Given the description of an element on the screen output the (x, y) to click on. 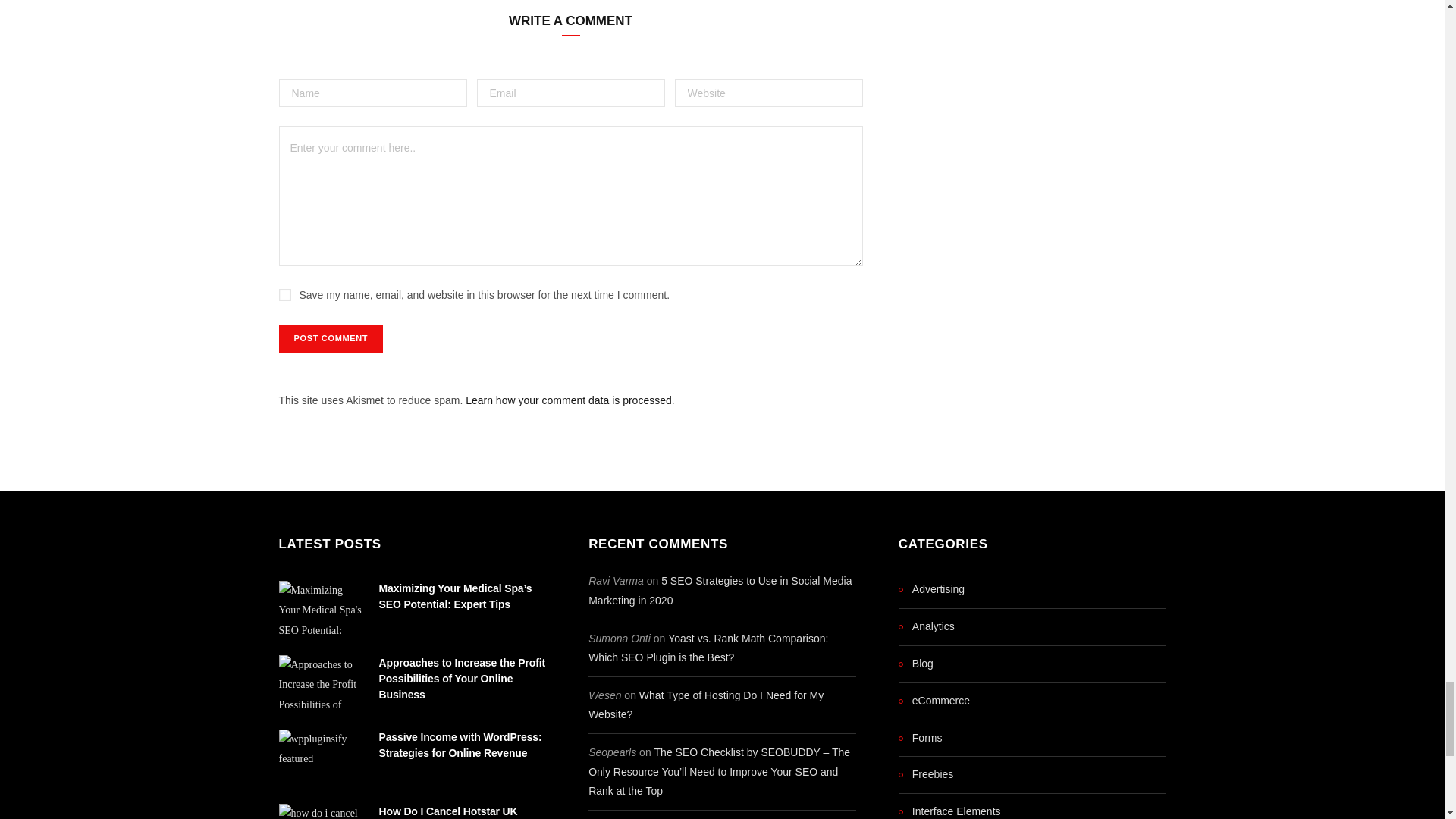
Post Comment (331, 338)
yes (285, 295)
